Given the description of an element on the screen output the (x, y) to click on. 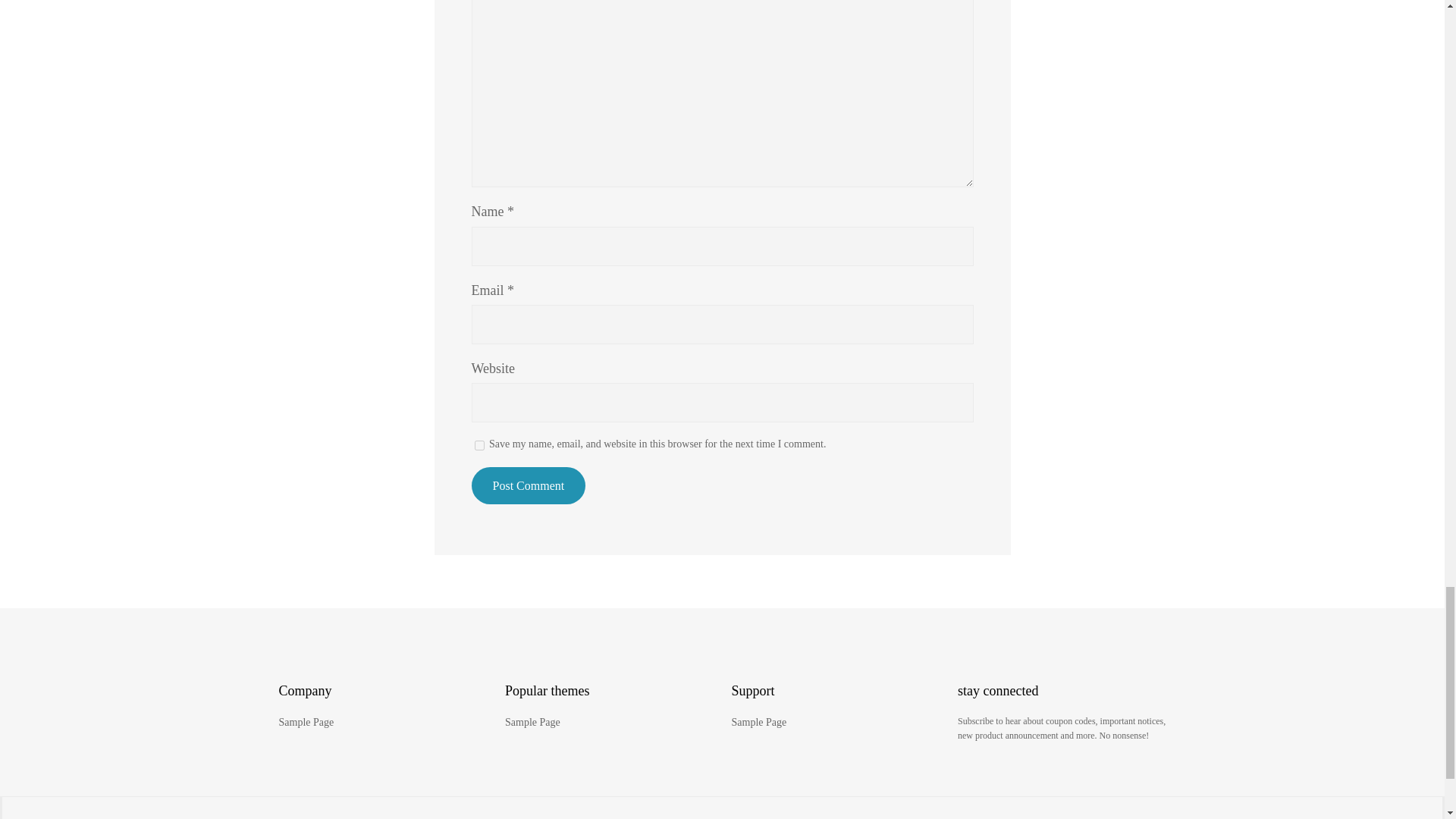
Sample Page (306, 722)
Post Comment (528, 485)
Post Comment (528, 485)
Sample Page (758, 722)
Sample Page (532, 722)
